Given the description of an element on the screen output the (x, y) to click on. 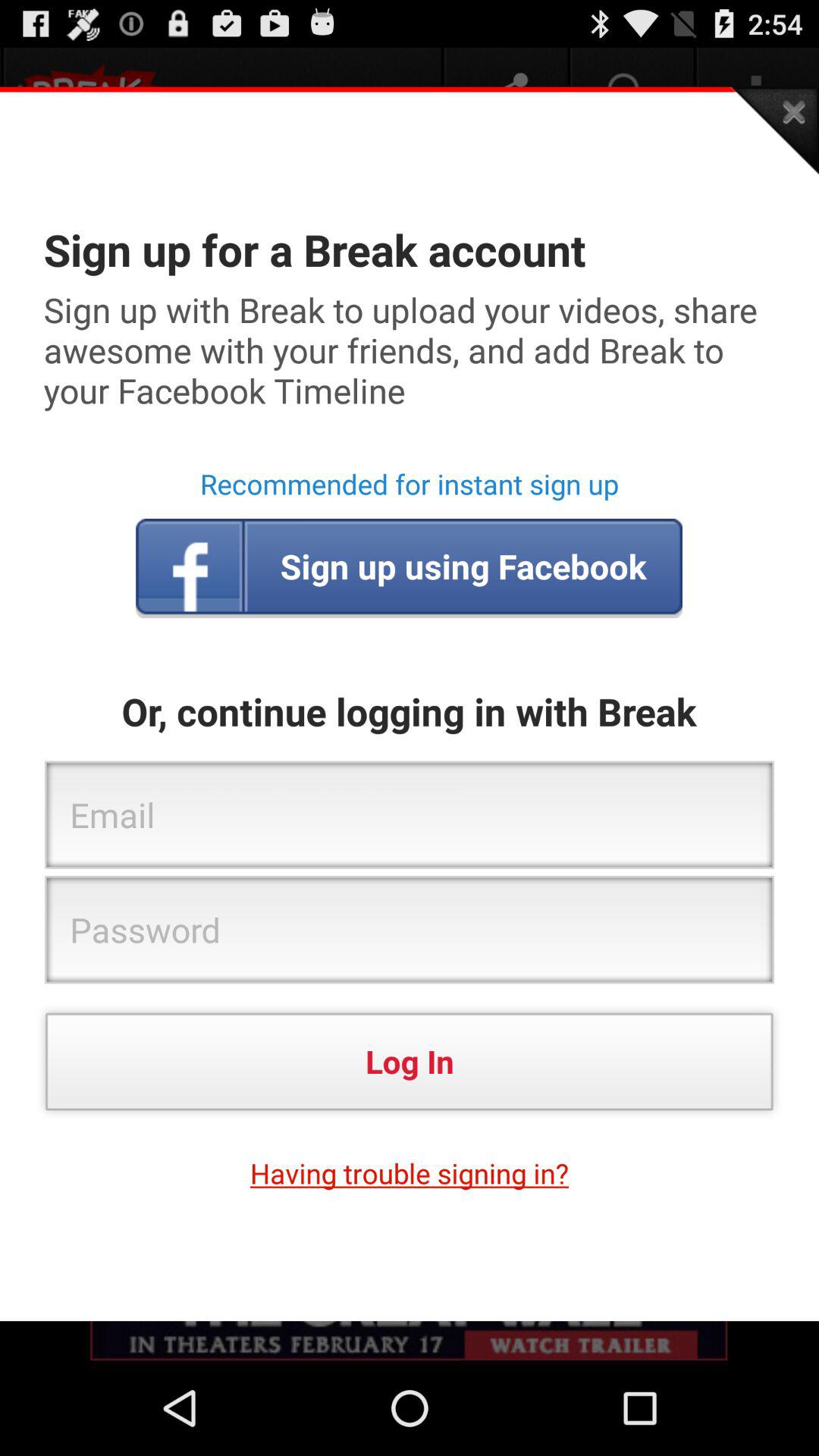
swipe until the log in button (409, 1061)
